Given the description of an element on the screen output the (x, y) to click on. 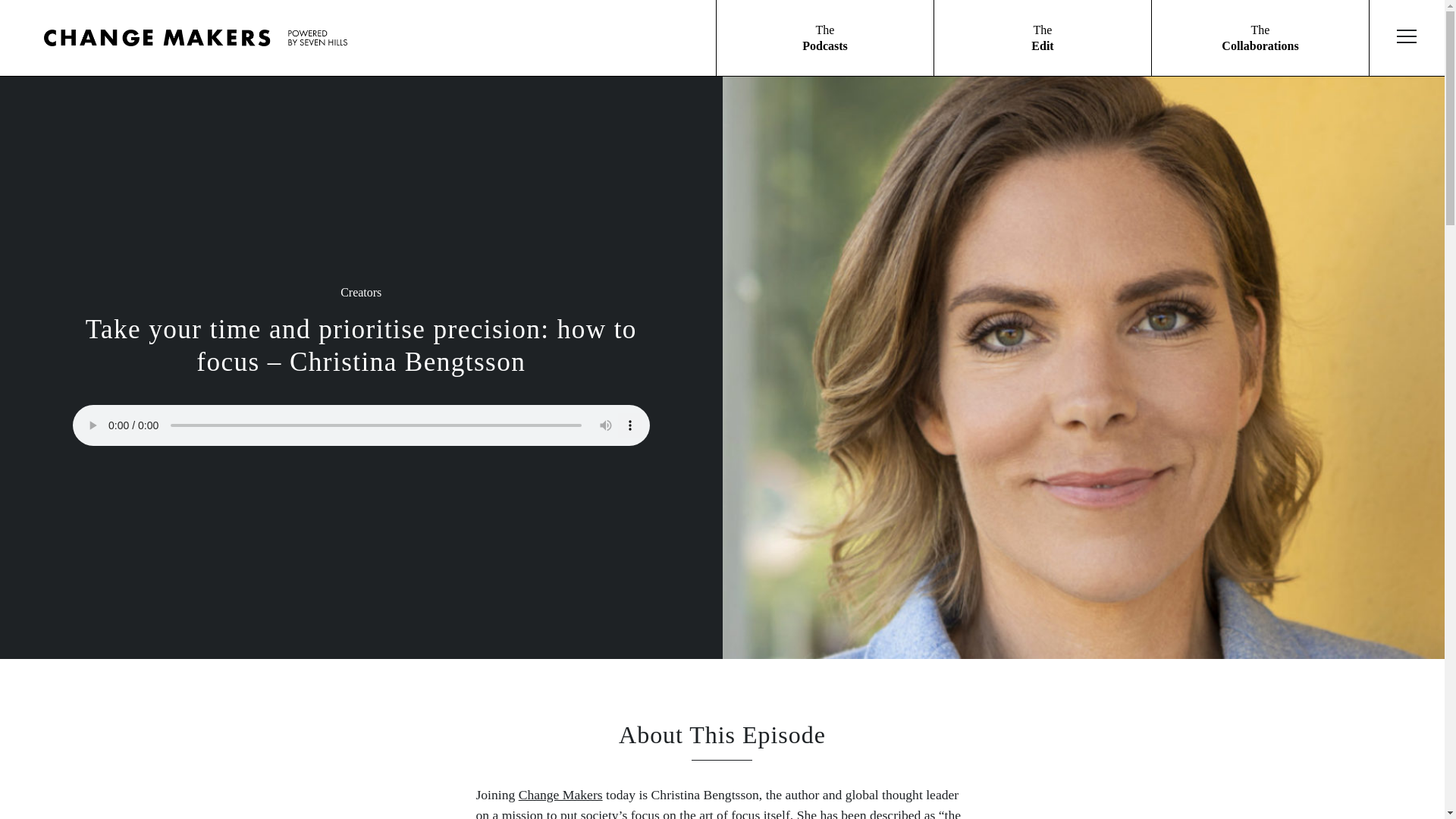
Change Makers (1259, 38)
toggle menu (1042, 38)
